Given the description of an element on the screen output the (x, y) to click on. 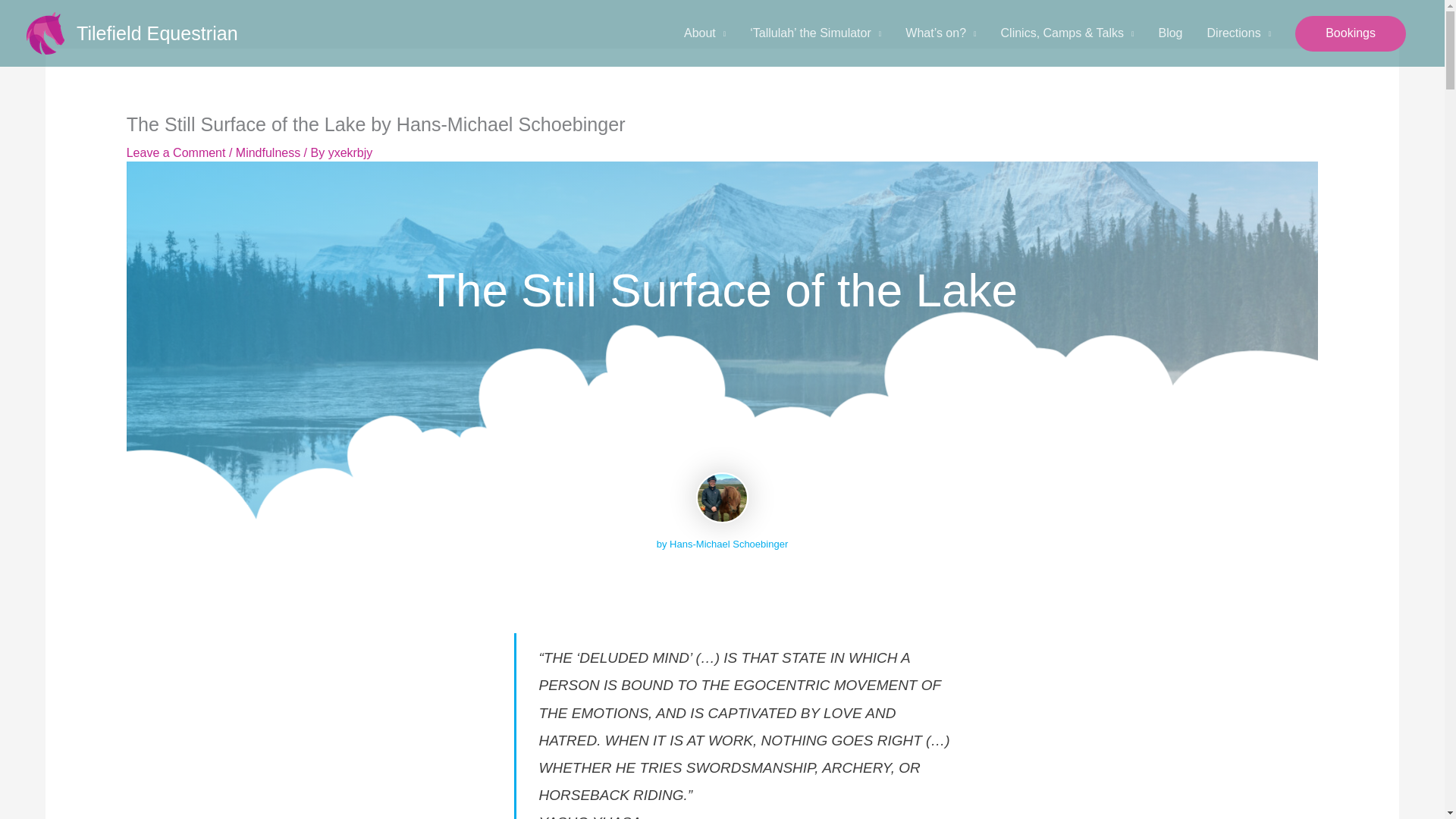
Leave a Comment (175, 152)
yxekrbjy (350, 152)
Tilefield Equestrian (157, 33)
Blog (1169, 33)
View all posts by yxekrbjy (350, 152)
Mindfulness (267, 152)
Bookings (1350, 32)
About (704, 33)
Directions (1239, 33)
